Given the description of an element on the screen output the (x, y) to click on. 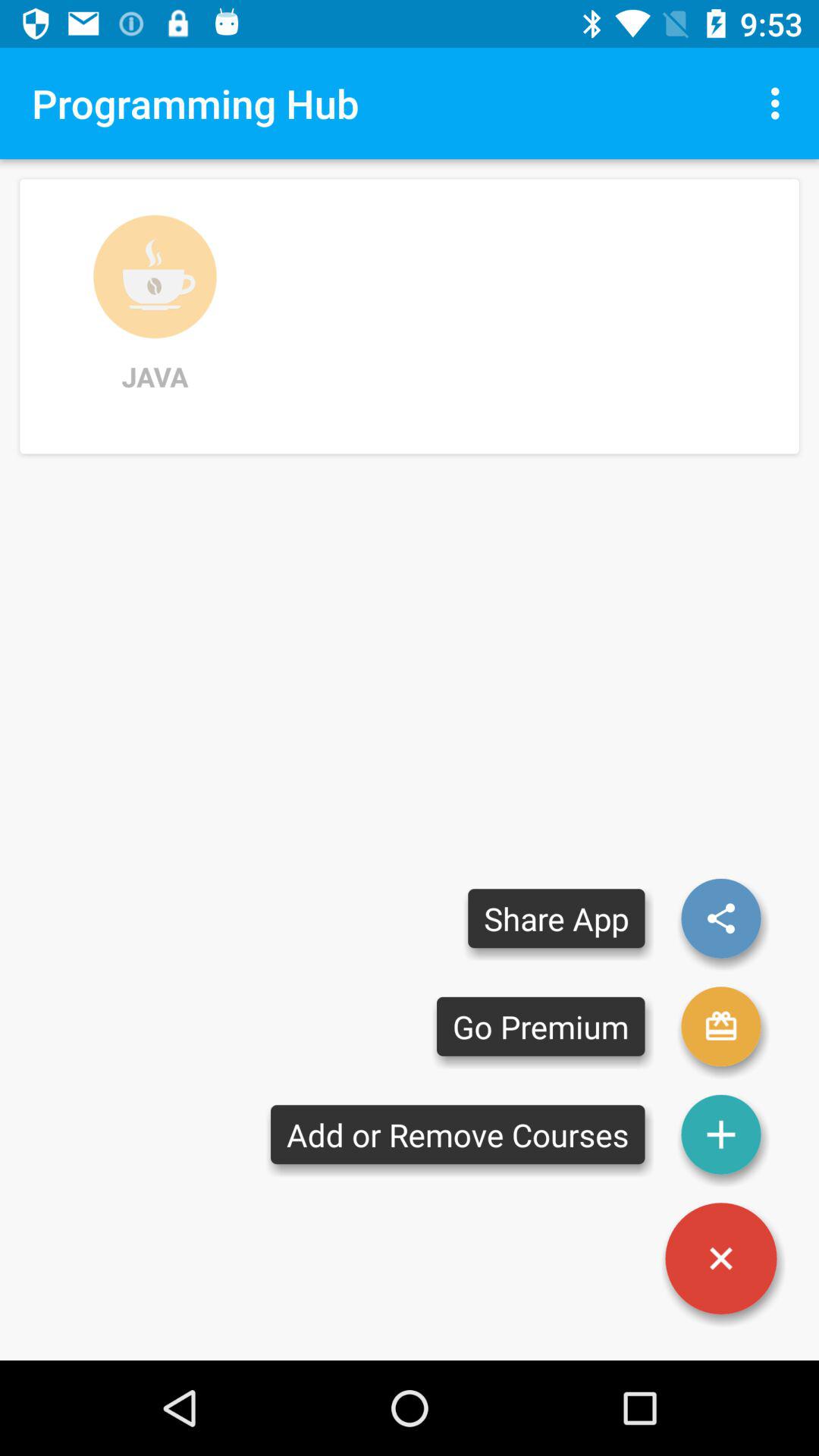
turn on icon next to the share app item (721, 1026)
